Given the description of an element on the screen output the (x, y) to click on. 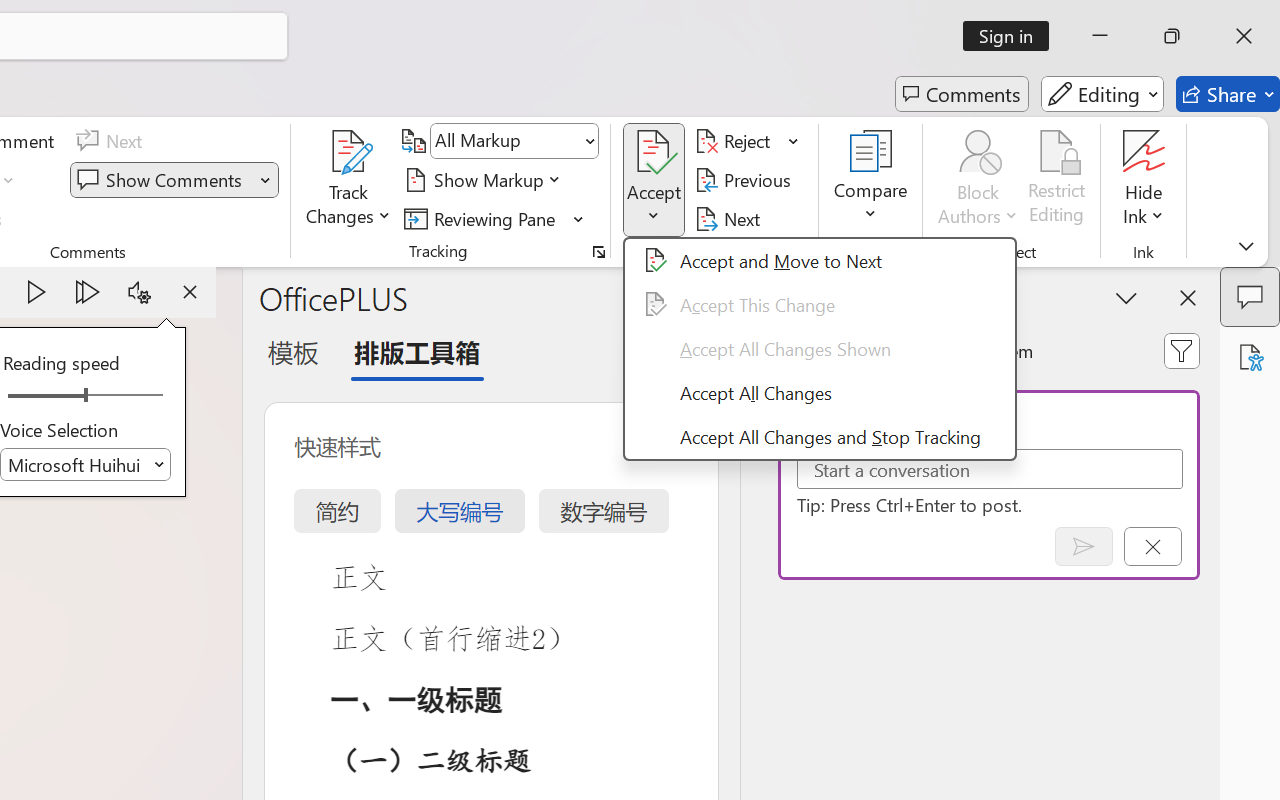
Page left (40, 395)
Cancel (1152, 546)
Accessibility Assistant (1249, 357)
Track Changes (349, 151)
Block Authors (977, 179)
Display for Review (514, 141)
Page right (129, 395)
Show Markup (485, 179)
